Given the description of an element on the screen output the (x, y) to click on. 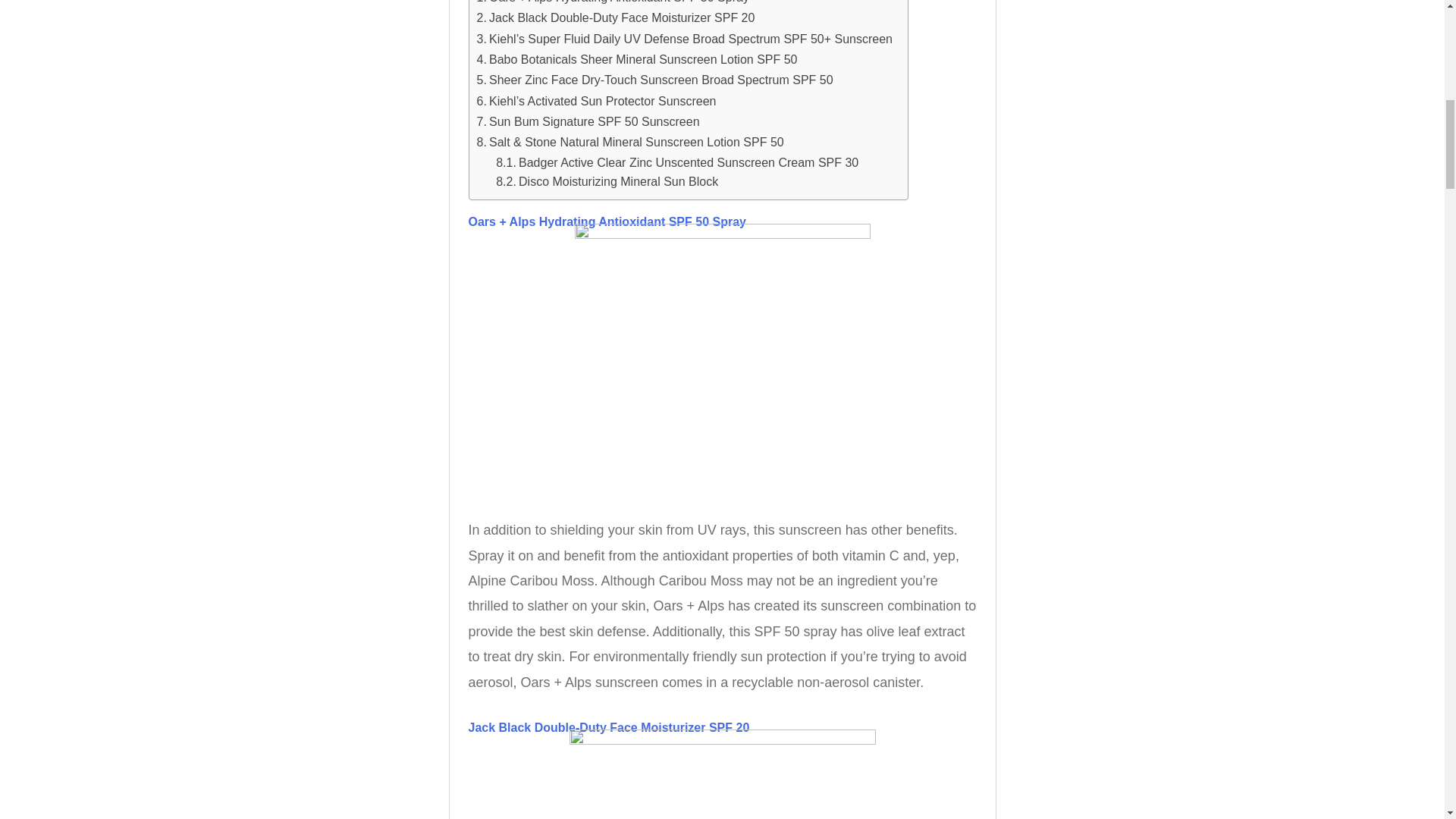
Jack Black Double-Duty Face Moisturizer SPF 20 (615, 17)
Babo Botanicals Sheer Mineral Sunscreen Lotion SPF 50 (636, 59)
Badger Active Clear Zinc Unscented Sunscreen Cream SPF 30 (677, 162)
Disco Moisturizing Mineral Sun Block (606, 181)
Babo Botanicals Sheer Mineral Sunscreen Lotion SPF 50 (636, 59)
Sun Bum Signature SPF 50 Sunscreen (587, 121)
Jack Black Double-Duty Face Moisturizer SPF 20 (608, 727)
Badger Active Clear Zinc Unscented Sunscreen Cream SPF 30 (677, 162)
Jack Black Double-Duty Face Moisturizer SPF 20 (615, 17)
Sheer Zinc Face Dry-Touch Sunscreen Broad Spectrum SPF 50 (654, 80)
Disco Moisturizing Mineral Sun Block (606, 181)
Sun Bum Signature SPF 50 Sunscreen (587, 121)
Sheer Zinc Face Dry-Touch Sunscreen Broad Spectrum SPF 50 (654, 80)
